Given the description of an element on the screen output the (x, y) to click on. 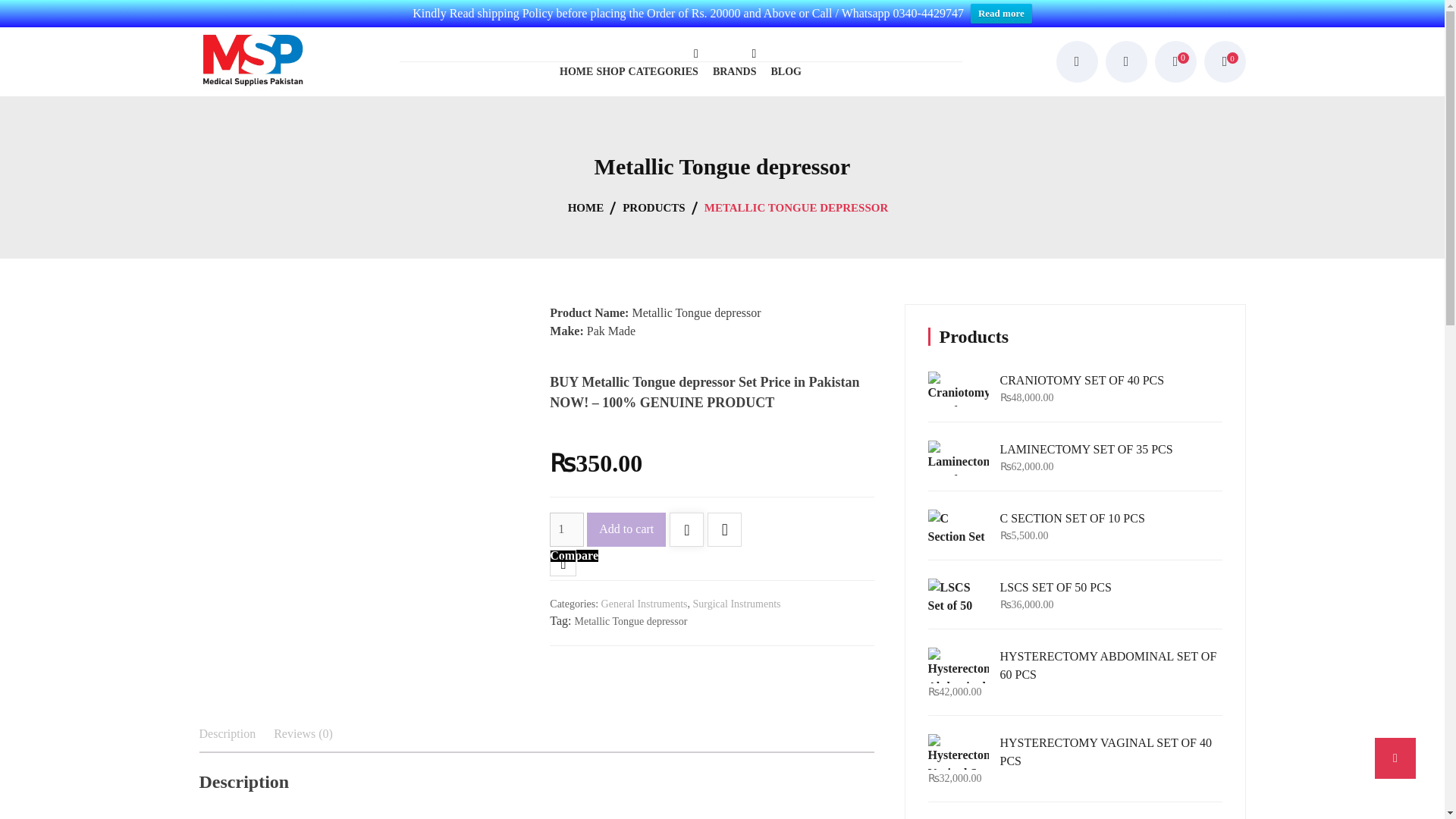
Read more (1001, 13)
1 (566, 529)
Add to Wishlist (686, 530)
My Wishlist (1174, 61)
